Given the description of an element on the screen output the (x, y) to click on. 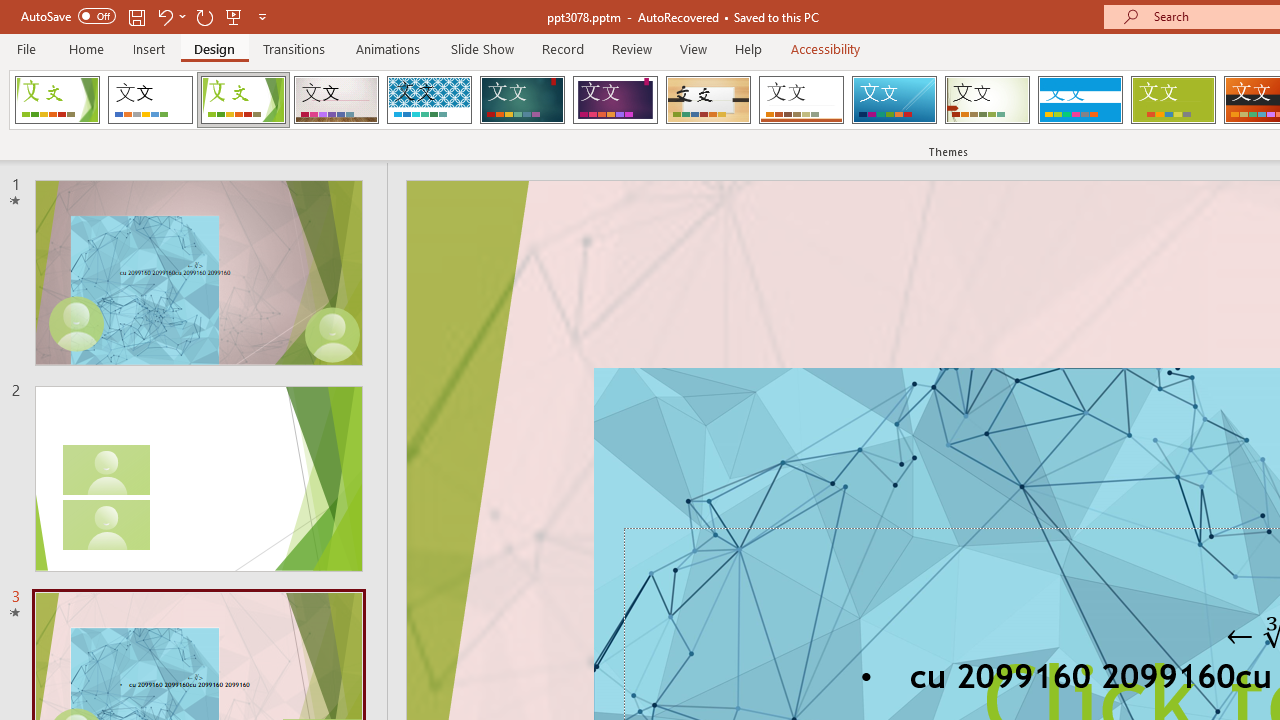
Ion (522, 100)
Integral (429, 100)
Ion Boardroom (615, 100)
Banded (1080, 100)
Wisp (987, 100)
Gallery (336, 100)
